Given the description of an element on the screen output the (x, y) to click on. 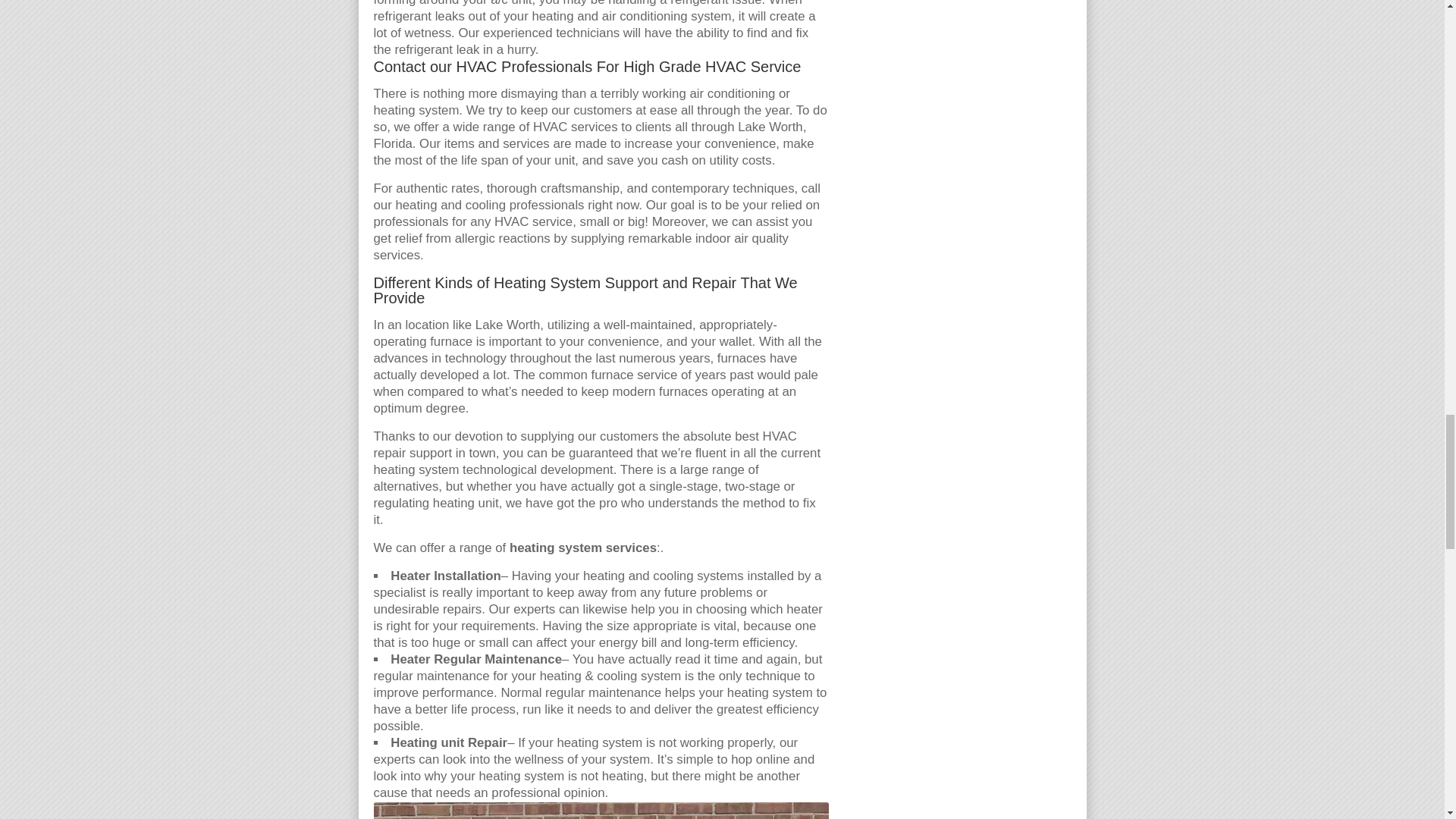
HVAC Repair Lake Worth FL (600, 810)
